Given the description of an element on the screen output the (x, y) to click on. 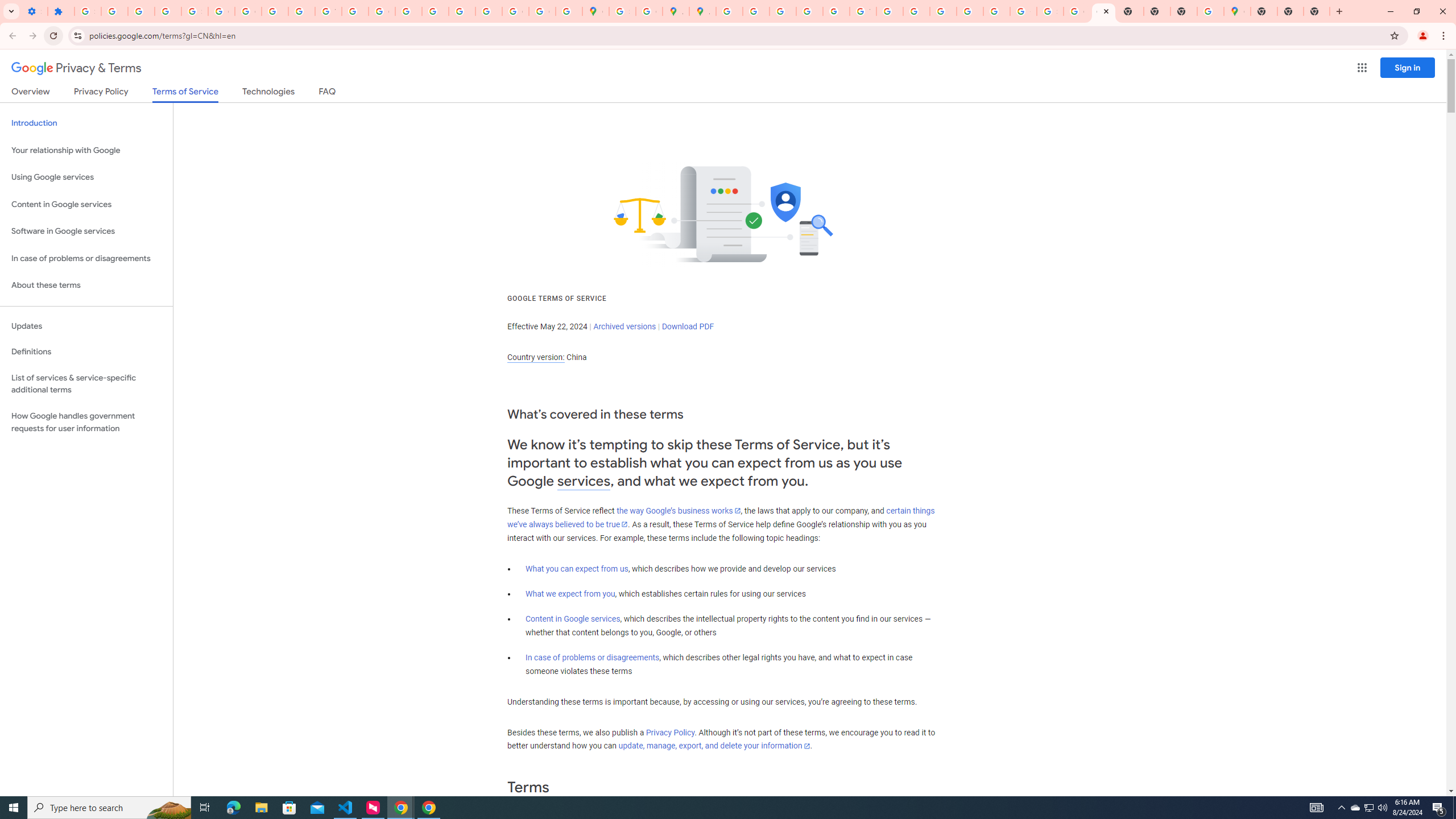
New Tab (1183, 11)
Definitions (86, 352)
About these terms (86, 284)
New Tab (1290, 11)
Privacy Help Center - Policies Help (408, 11)
Privacy Help Center - Policies Help (756, 11)
Your relationship with Google (86, 150)
Sign in - Google Accounts (87, 11)
